Given the description of an element on the screen output the (x, y) to click on. 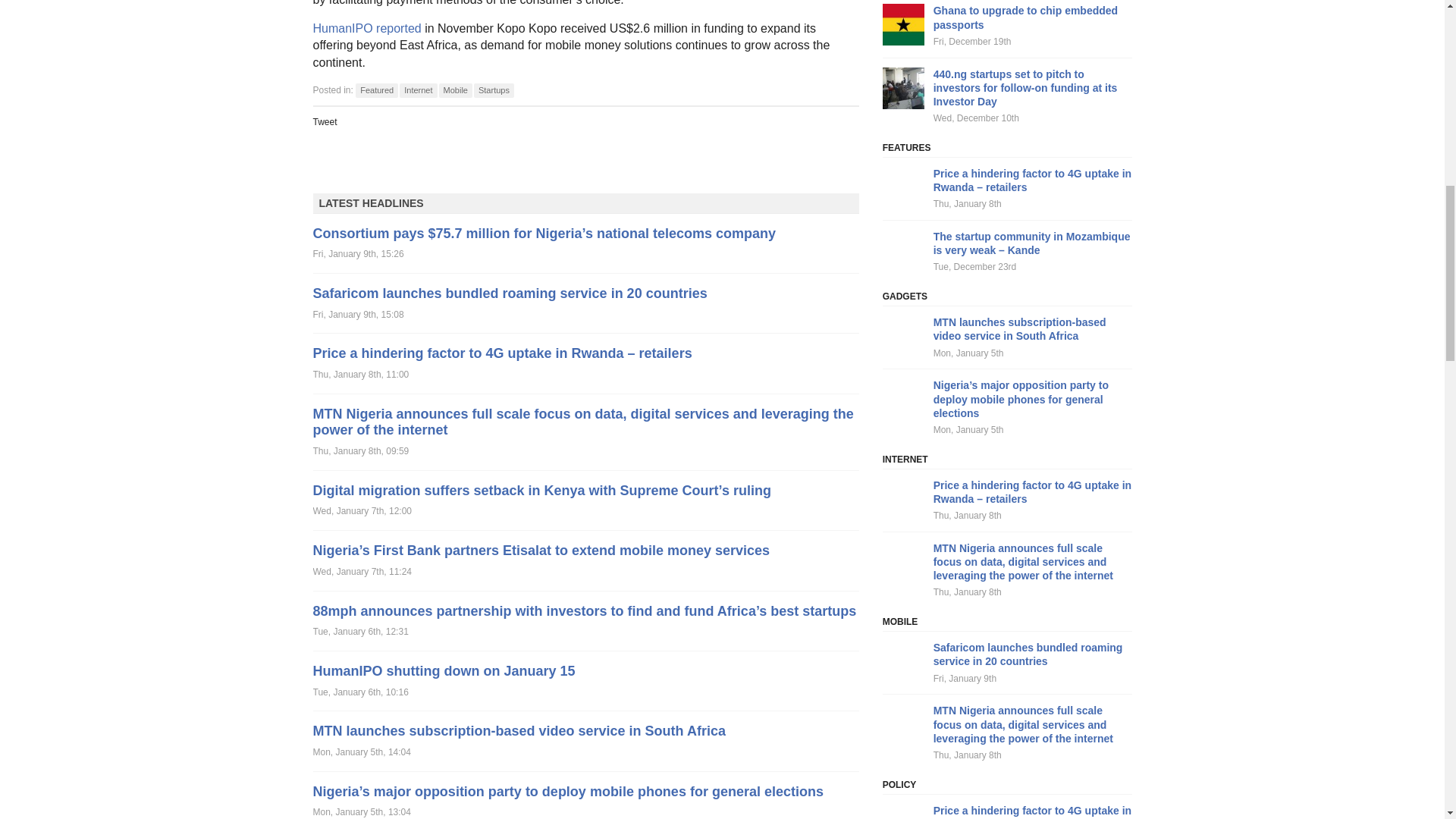
Internet (417, 90)
Mobile (455, 90)
Mobile (455, 90)
HumanIPO shutting down on January 15 (444, 670)
Startups (493, 90)
Internet (417, 90)
HumanIPO reported (366, 28)
Safaricom launches bundled roaming service in 20 countries (509, 293)
Featured (376, 90)
Featured (376, 90)
Startups (493, 90)
